Given the description of an element on the screen output the (x, y) to click on. 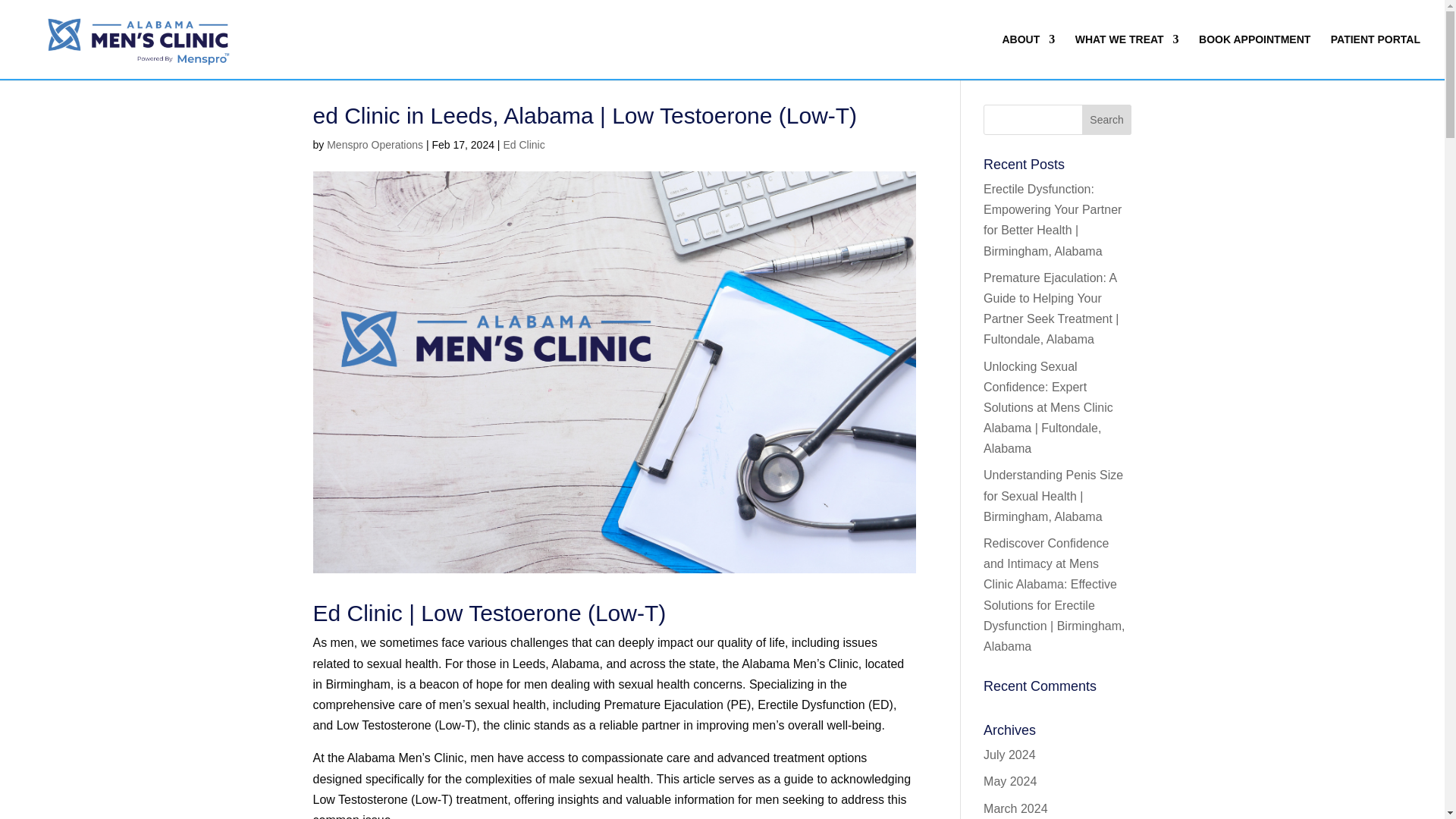
PATIENT PORTAL (1375, 56)
Search (1106, 119)
BOOK APPOINTMENT (1254, 56)
May 2024 (1010, 780)
Ed Clinic (523, 144)
ABOUT (1027, 56)
Search (1106, 119)
WHAT WE TREAT (1127, 56)
July 2024 (1009, 754)
Menspro Operations (374, 144)
Posts by Menspro Operations (374, 144)
March 2024 (1016, 808)
